Given the description of an element on the screen output the (x, y) to click on. 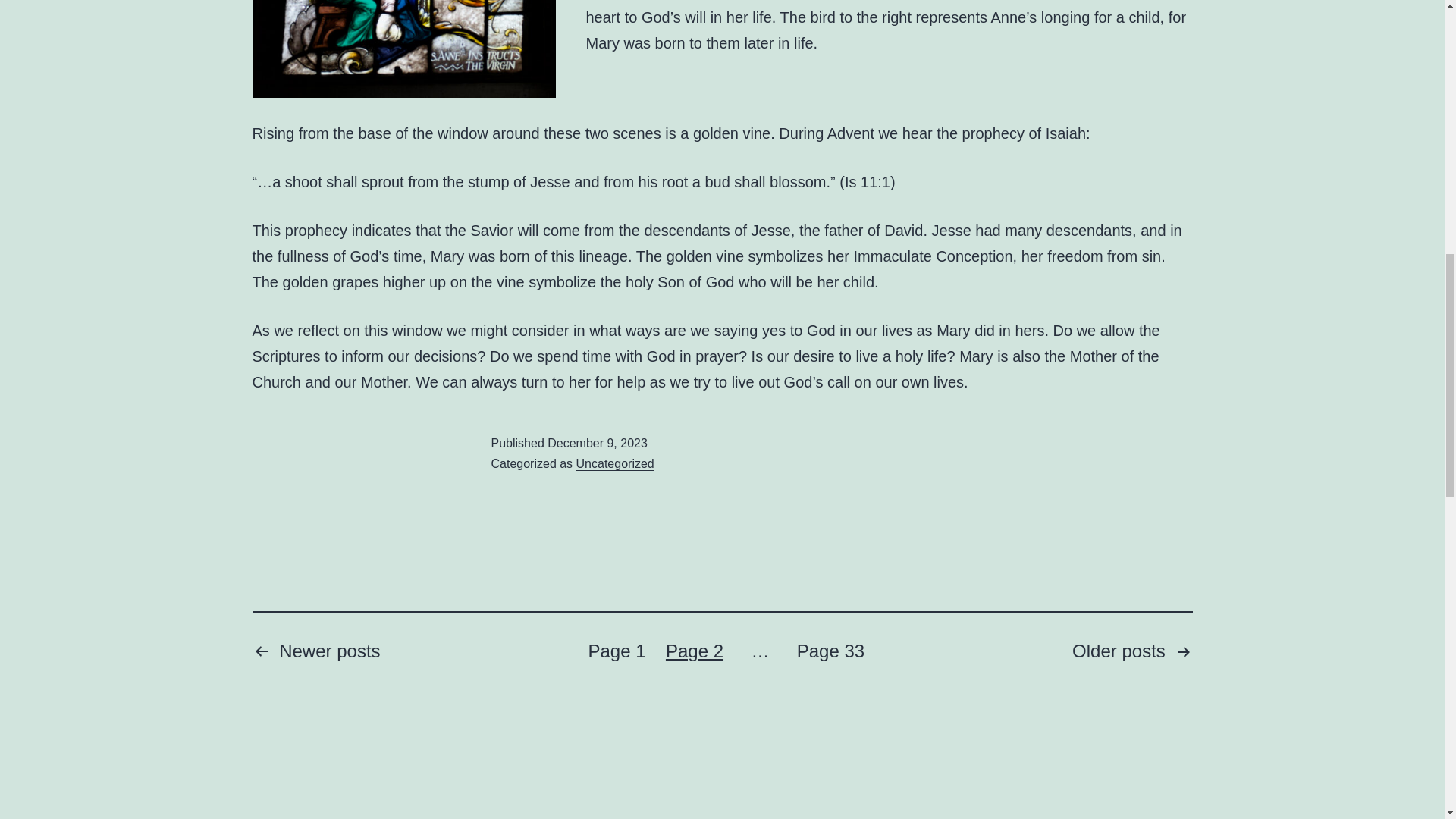
Newer posts (315, 652)
Older posts (1131, 652)
Page 1 (616, 652)
Uncategorized (614, 463)
Page 33 (830, 652)
